Given the description of an element on the screen output the (x, y) to click on. 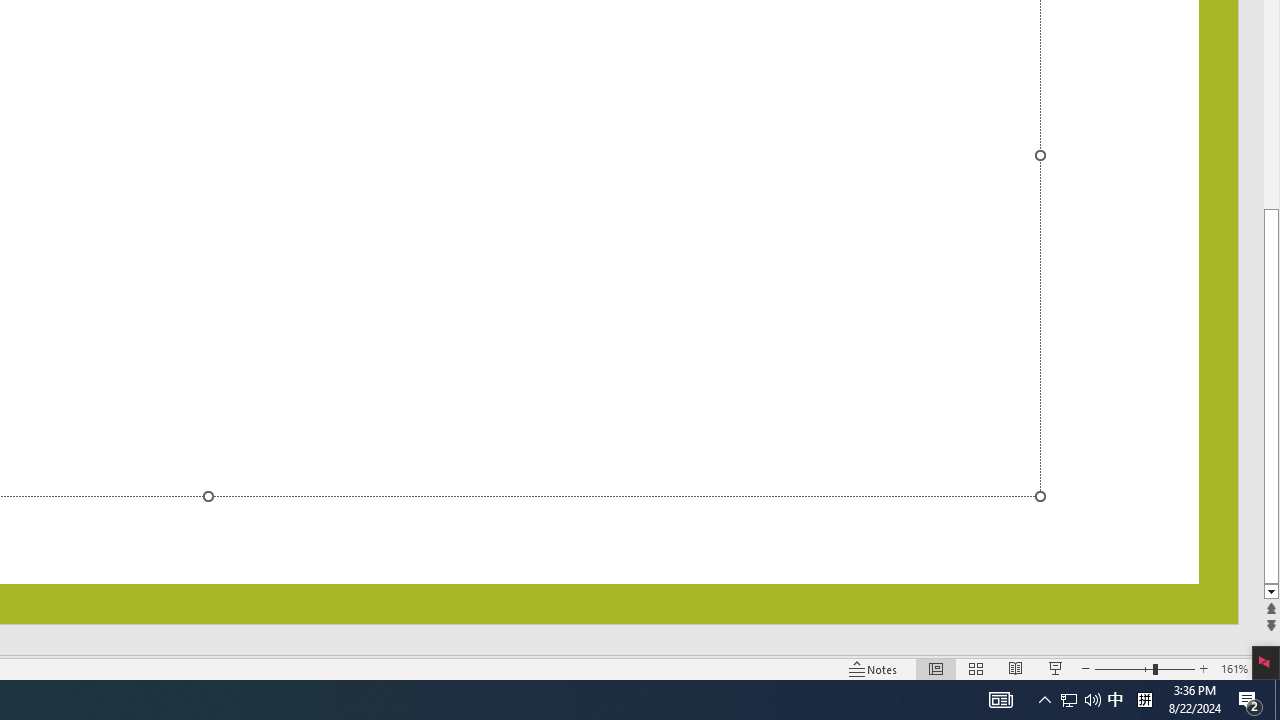
Normal (936, 668)
Zoom 161% (1234, 668)
Zoom In (1204, 668)
Slide Sorter (975, 668)
Slide Show (1055, 668)
Notes  (874, 668)
Reading View (1015, 668)
Zoom (1144, 668)
Zoom Out (1123, 668)
Zoom to Fit  (1267, 668)
